Given the description of an element on the screen output the (x, y) to click on. 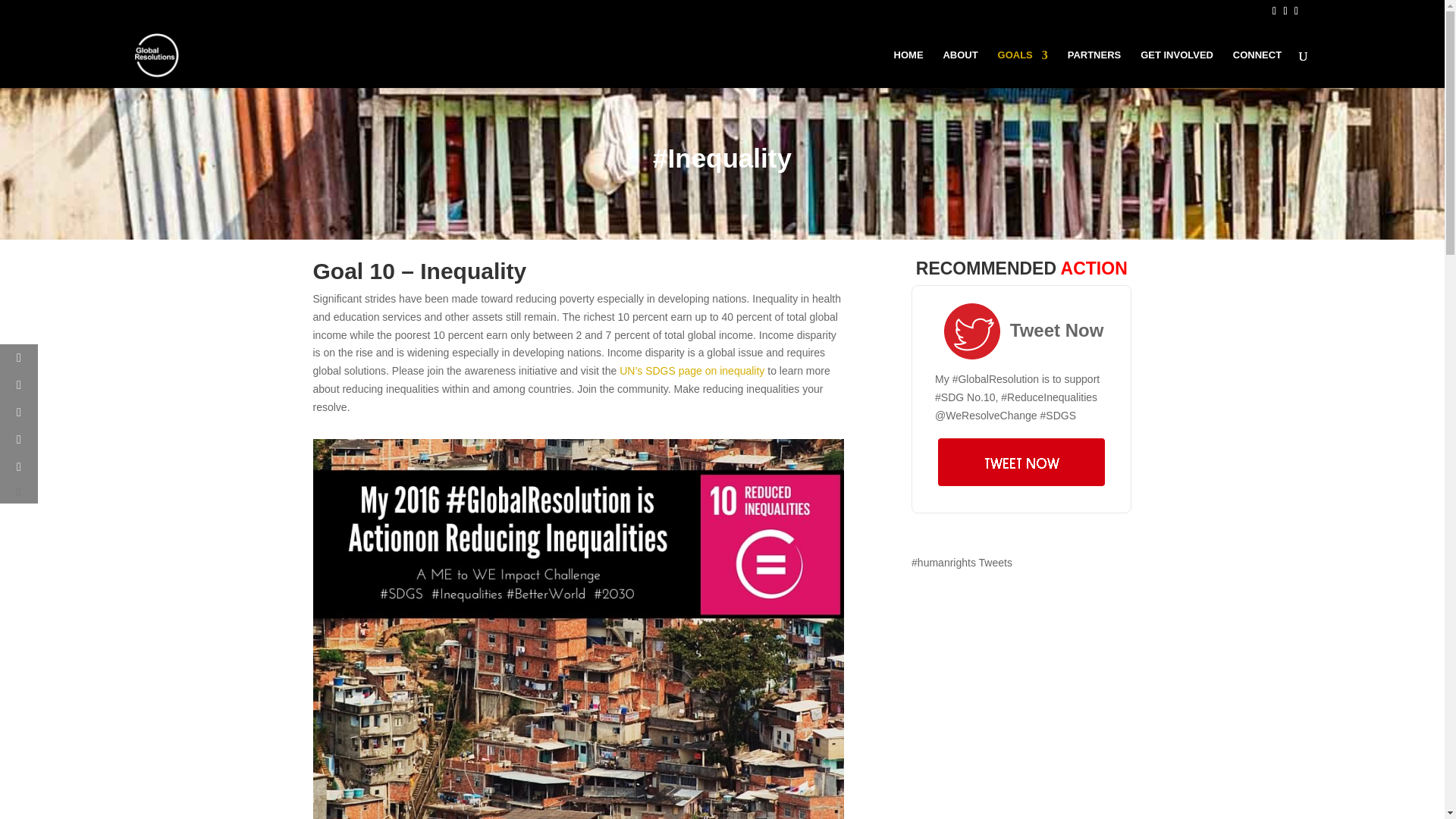
GET INVOLVED (1176, 68)
ABOUT (959, 68)
GOALS (1022, 68)
CONNECT (1257, 68)
PARTNERS (1094, 68)
